Given the description of an element on the screen output the (x, y) to click on. 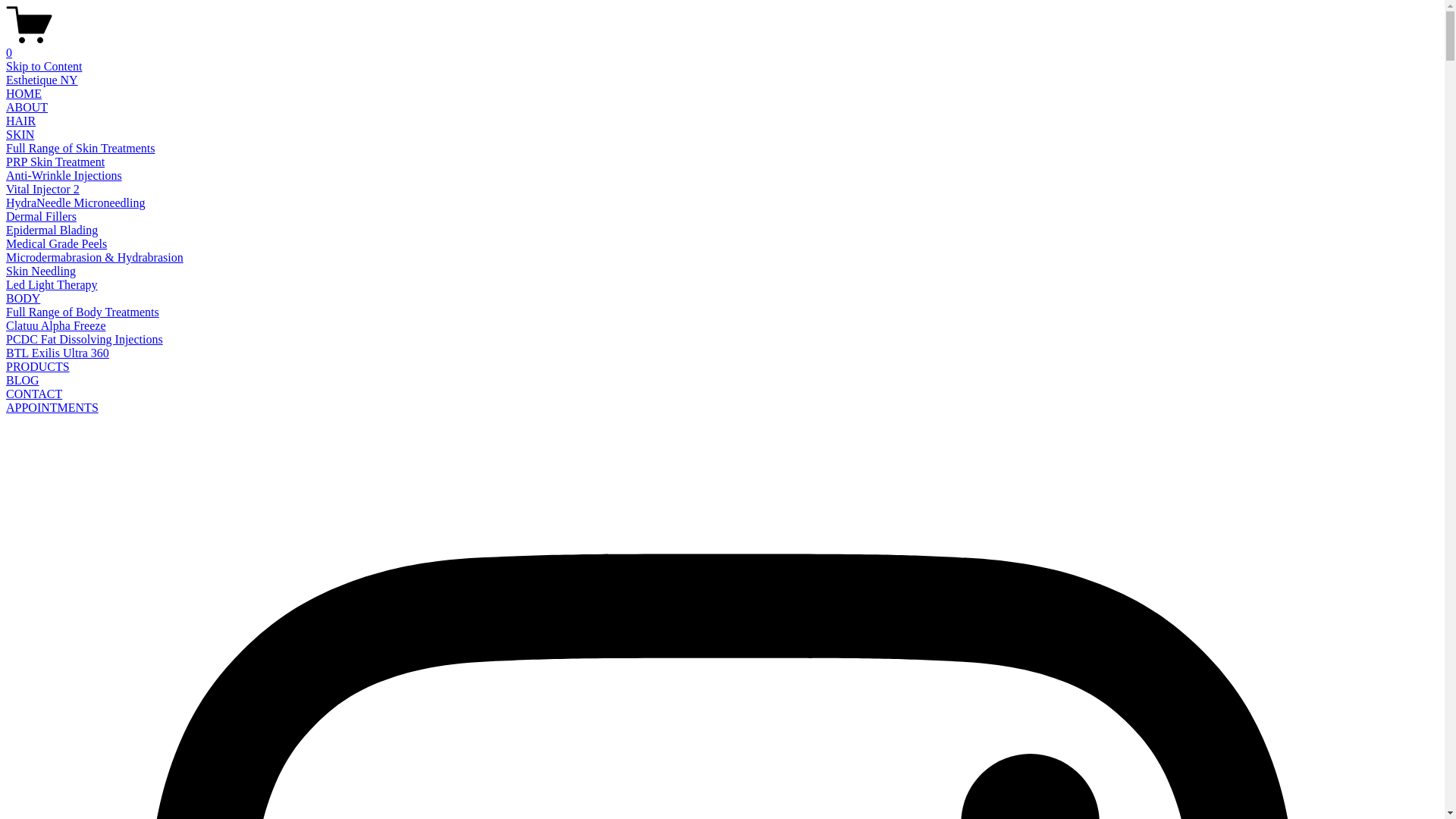
Clatuu Alpha Freeze Element type: text (56, 325)
0 Element type: text (722, 45)
ABOUT Element type: text (26, 106)
BLOG Element type: text (22, 379)
HAIR Element type: text (20, 120)
BTL Exilis Ultra 360 Element type: text (57, 352)
SKIN Element type: text (20, 134)
CONTACT Element type: text (34, 393)
APPOINTMENTS Element type: text (52, 407)
Full Range of Skin Treatments Element type: text (80, 147)
BODY Element type: text (23, 297)
HydraNeedle Microneedling Element type: text (75, 202)
Full Range of Body Treatments Element type: text (82, 311)
Dermal Fillers Element type: text (41, 216)
Skip to Content Element type: text (43, 65)
Medical Grade Peels Element type: text (56, 243)
Esthetique NY Element type: text (42, 79)
Anti-Wrinkle Injections Element type: text (64, 175)
Vital Injector 2 Element type: text (42, 188)
HOME Element type: text (23, 93)
Led Light Therapy Element type: text (51, 284)
PRP Skin Treatment Element type: text (55, 161)
Skin Needling Element type: text (40, 270)
Microdermabrasion & Hydrabrasion Element type: text (94, 257)
Epidermal Blading Element type: text (51, 229)
PRODUCTS Element type: text (37, 366)
PCDC Fat Dissolving Injections Element type: text (84, 338)
